Given the description of an element on the screen output the (x, y) to click on. 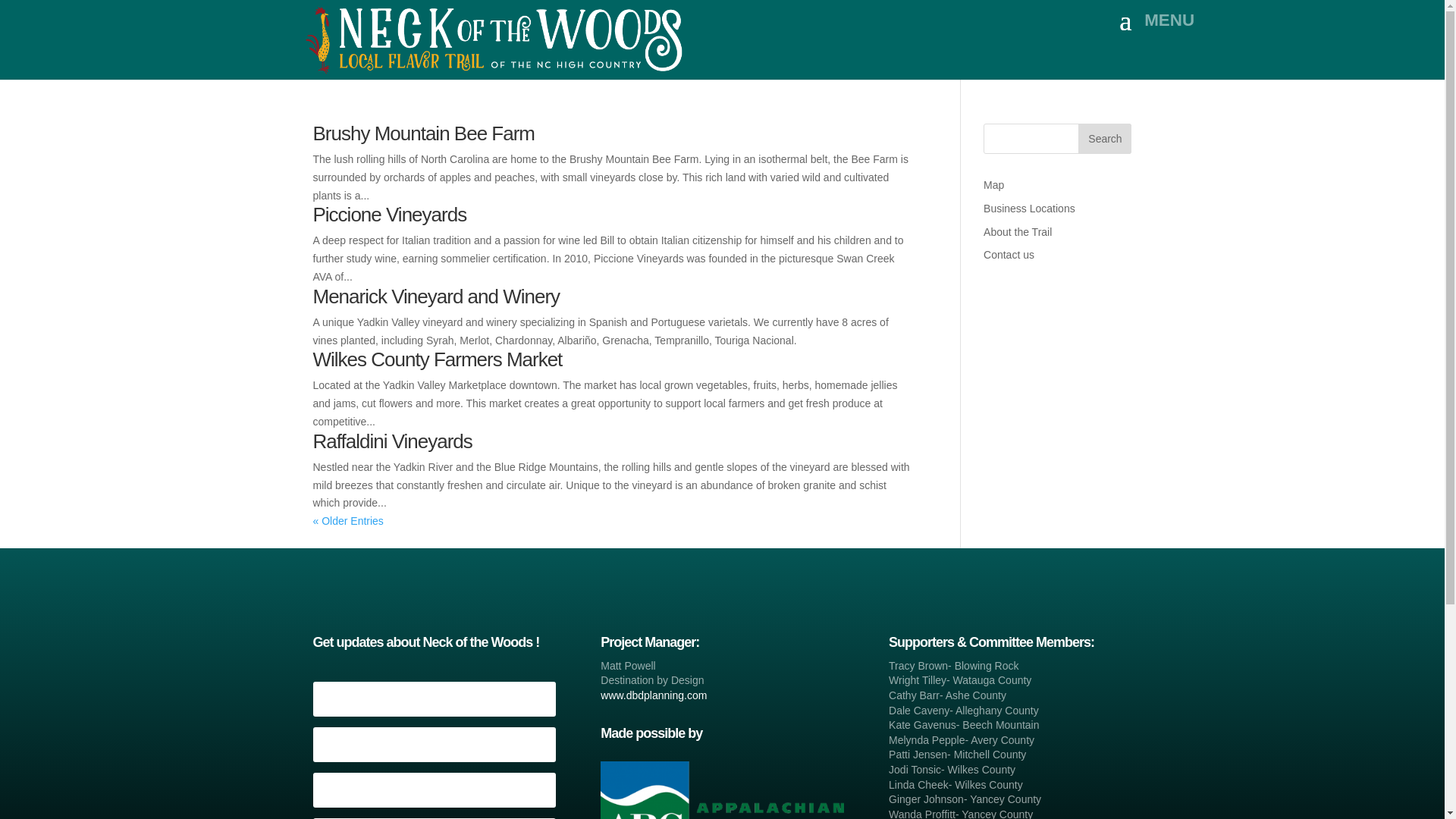
About the Trail (1017, 232)
Search (1104, 138)
Contact us (1008, 254)
Piccione Vineyards (389, 214)
Business Locations (1029, 208)
Menarick Vineyard and Winery (436, 296)
Wilkes County Farmers Market (437, 359)
Raffaldini Vineyards (392, 440)
Search (1104, 138)
www.dbdplanning.com (652, 695)
Brushy Mountain Bee Farm (423, 133)
Map (994, 184)
